Given the description of an element on the screen output the (x, y) to click on. 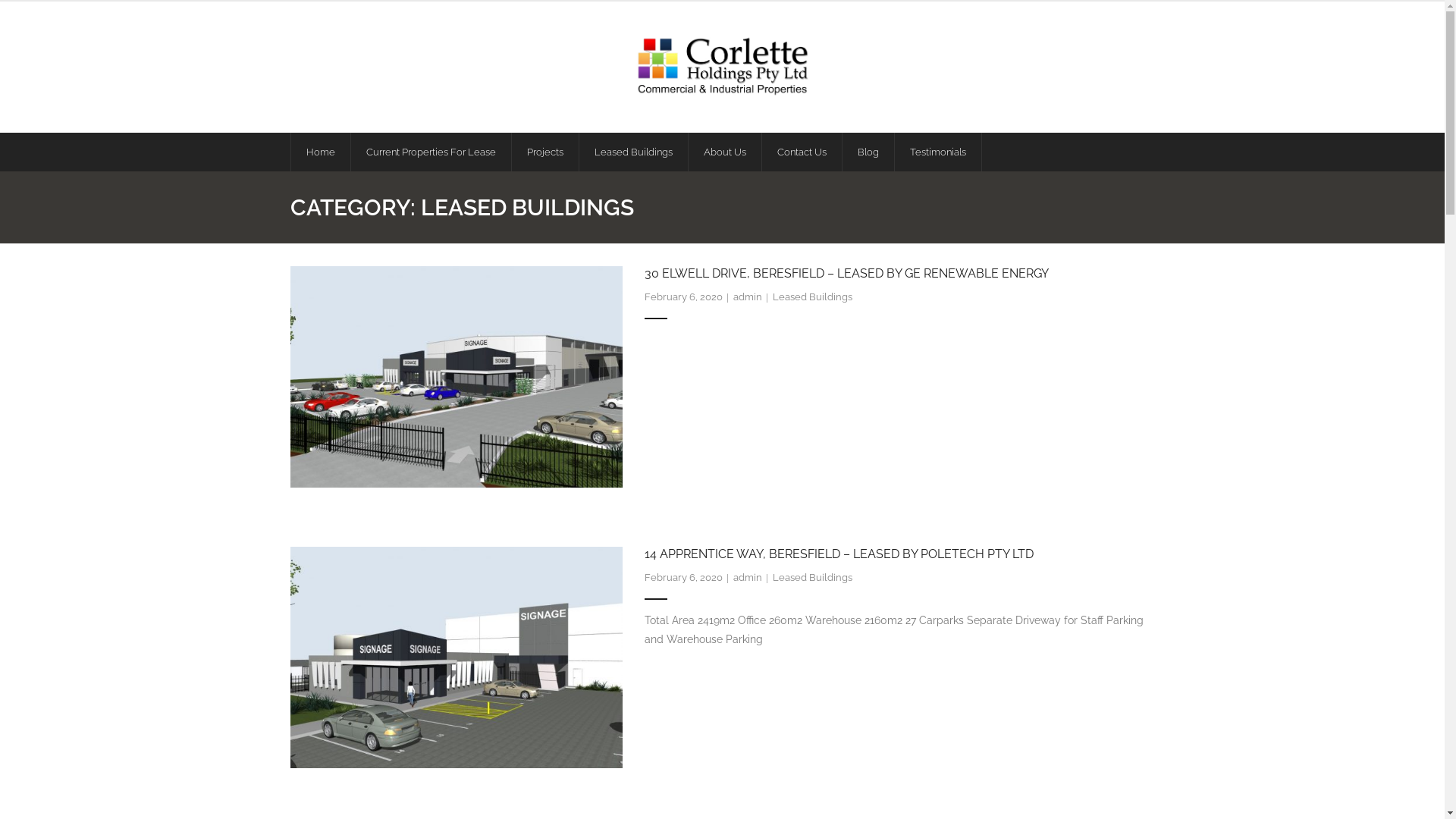
February 6, 2020 Element type: text (683, 296)
Current Properties For Lease Element type: text (430, 151)
February 6, 2020 Element type: text (683, 577)
Leased Buildings Element type: text (812, 577)
admin Element type: text (747, 577)
Blog Element type: text (867, 151)
About Us Element type: text (723, 151)
Leased Buildings Element type: text (632, 151)
Projects Element type: text (544, 151)
Leased Buildings Element type: text (812, 296)
Testimonials Element type: text (937, 151)
Contact Us Element type: text (801, 151)
admin Element type: text (747, 296)
Home Element type: text (319, 151)
